Given the description of an element on the screen output the (x, y) to click on. 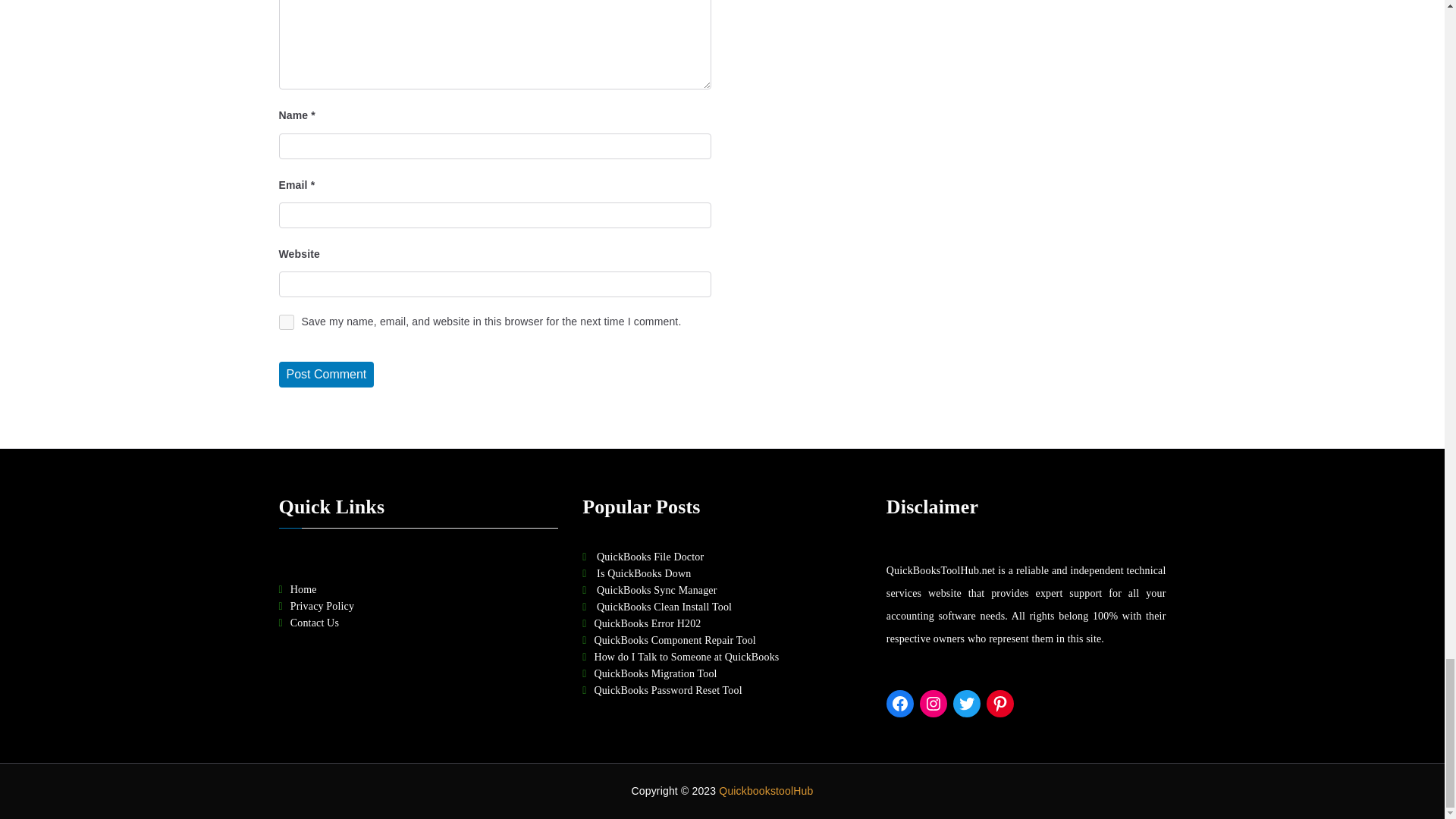
Post Comment (326, 374)
yes (286, 322)
